Given the description of an element on the screen output the (x, y) to click on. 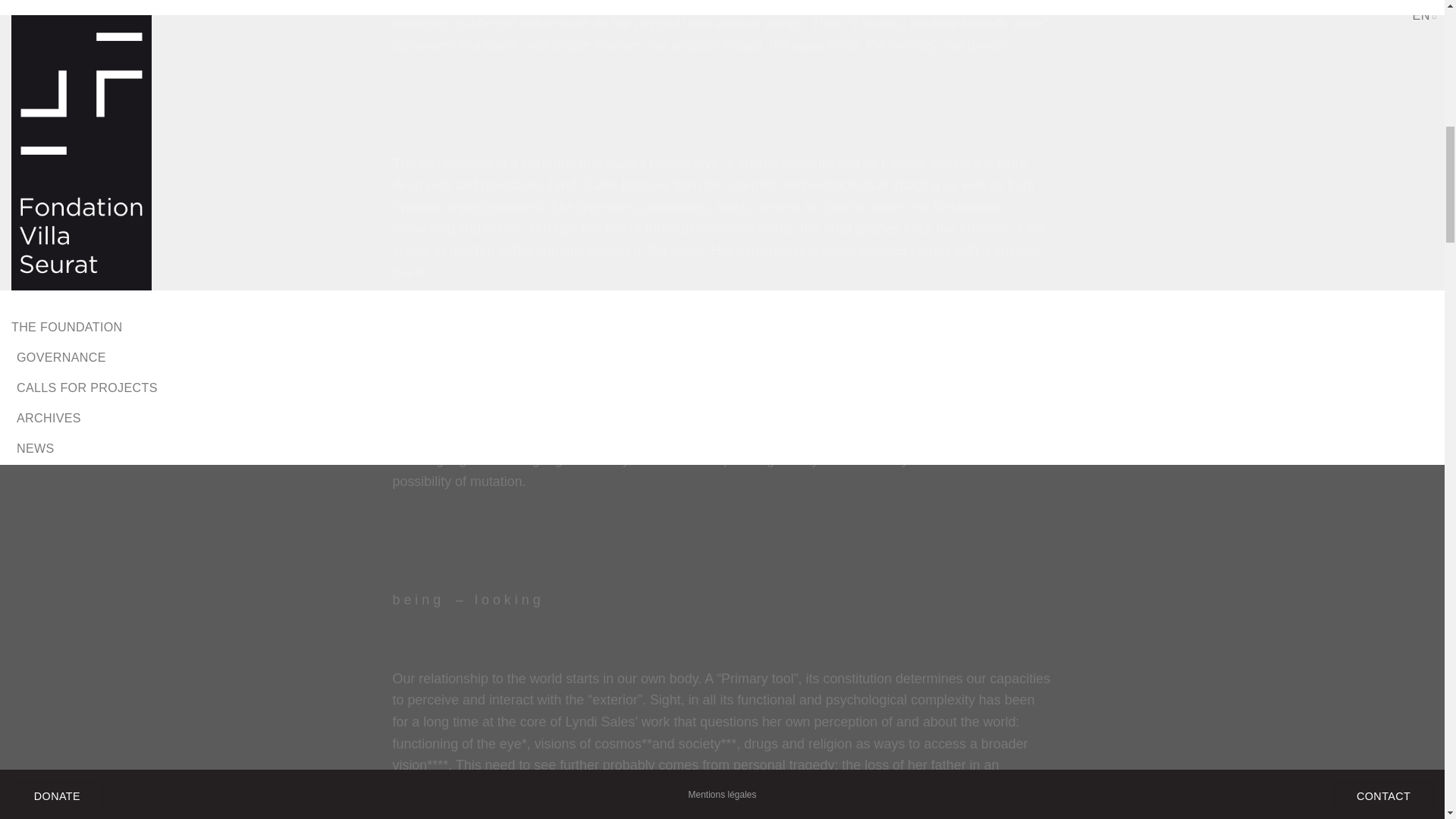
CALLS FOR PROJECTS (765, 46)
NEWS (925, 46)
THE FOUNDATION (550, 46)
ARCHIVES (868, 46)
GOVERNANCE (651, 46)
